Given the description of an element on the screen output the (x, y) to click on. 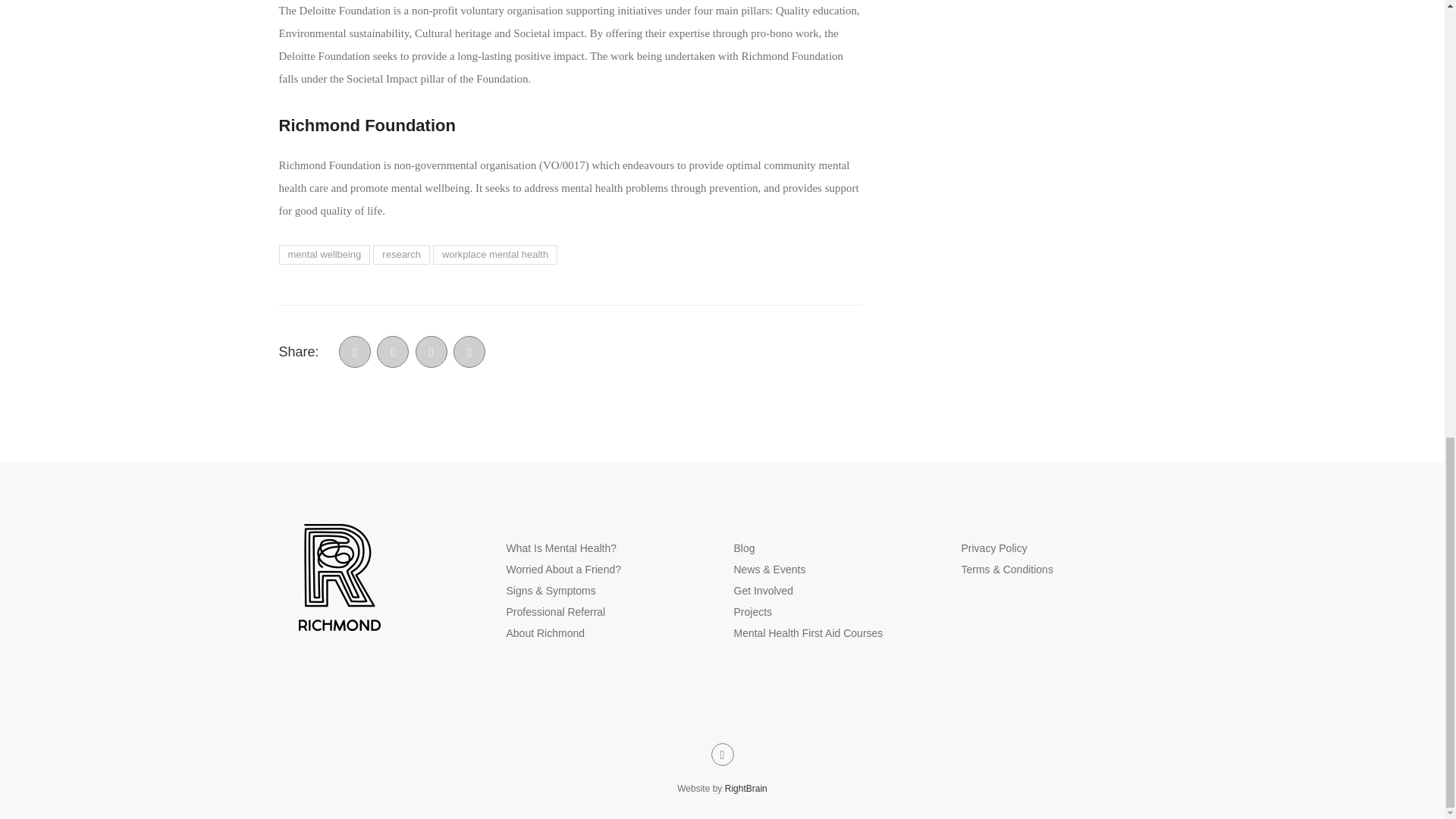
mental wellbeing (325, 254)
Twitter (393, 351)
Linkedin Share (430, 351)
Facebook (355, 351)
workplace mental health (494, 254)
research (400, 254)
